Given the description of an element on the screen output the (x, y) to click on. 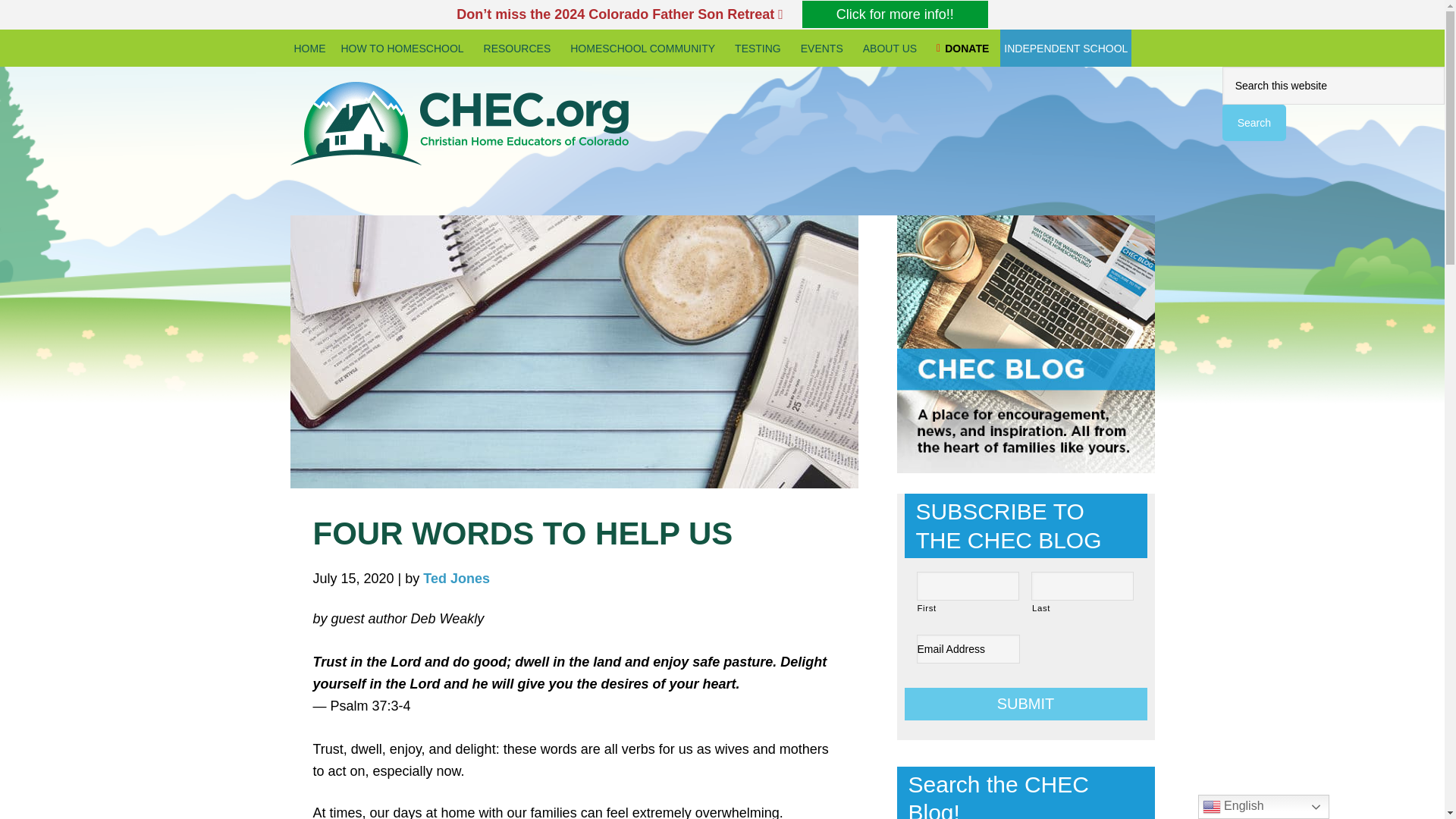
RESOURCES (519, 47)
EVENTS (823, 47)
ABOUT US (891, 47)
Search (1254, 122)
Search (1254, 122)
HOW TO HOMESCHOOL (403, 47)
Submit (1025, 703)
HOMESCHOOL COMMUNITY (644, 47)
HOME (309, 47)
TESTING (759, 47)
